Given the description of an element on the screen output the (x, y) to click on. 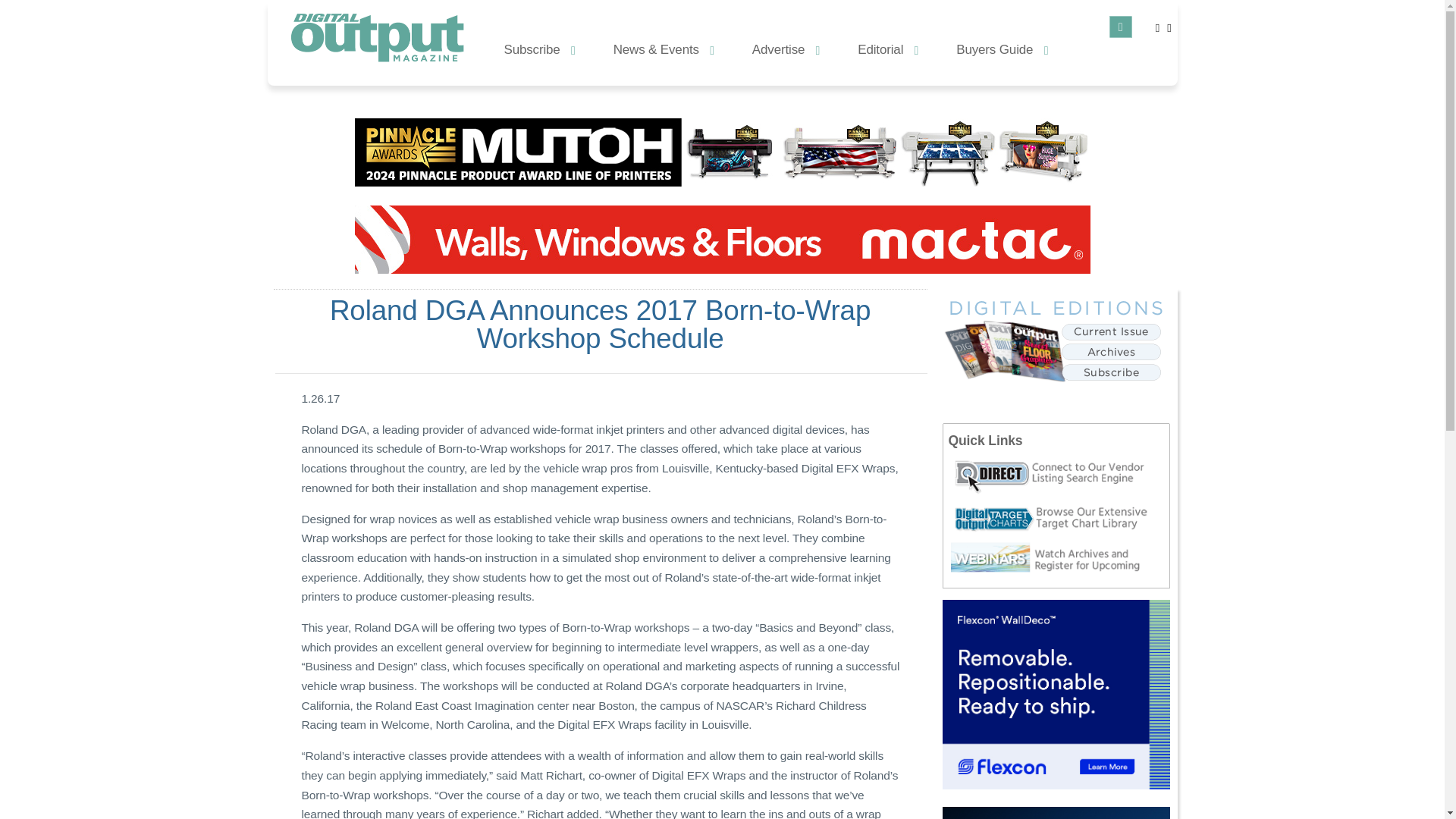
Buyers Guide (1002, 48)
Subscribe (539, 48)
Webinars (1058, 558)
Editorial (887, 48)
DODirect (1058, 476)
Twitter (1157, 27)
Target Charts (1058, 518)
Advertise (785, 48)
LinkedIn (1168, 27)
